Given the description of an element on the screen output the (x, y) to click on. 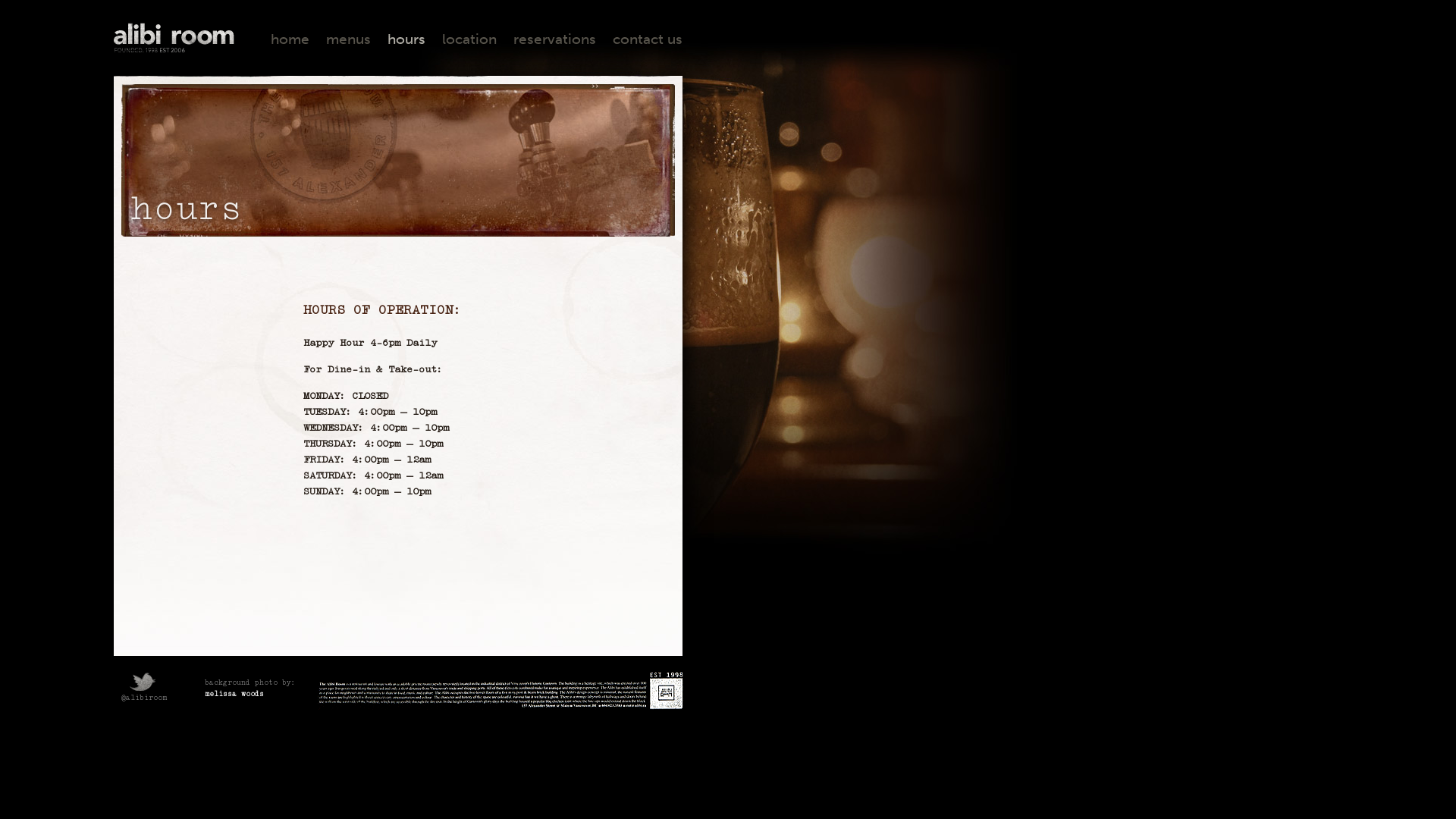
hours Element type: text (406, 38)
home Element type: text (289, 38)
@alibiroom Element type: text (140, 690)
menus Element type: text (348, 38)
contact us Element type: text (647, 38)
reservations Element type: text (554, 38)
Alibi Room Element type: text (174, 37)
location Element type: text (469, 38)
